Given the description of an element on the screen output the (x, y) to click on. 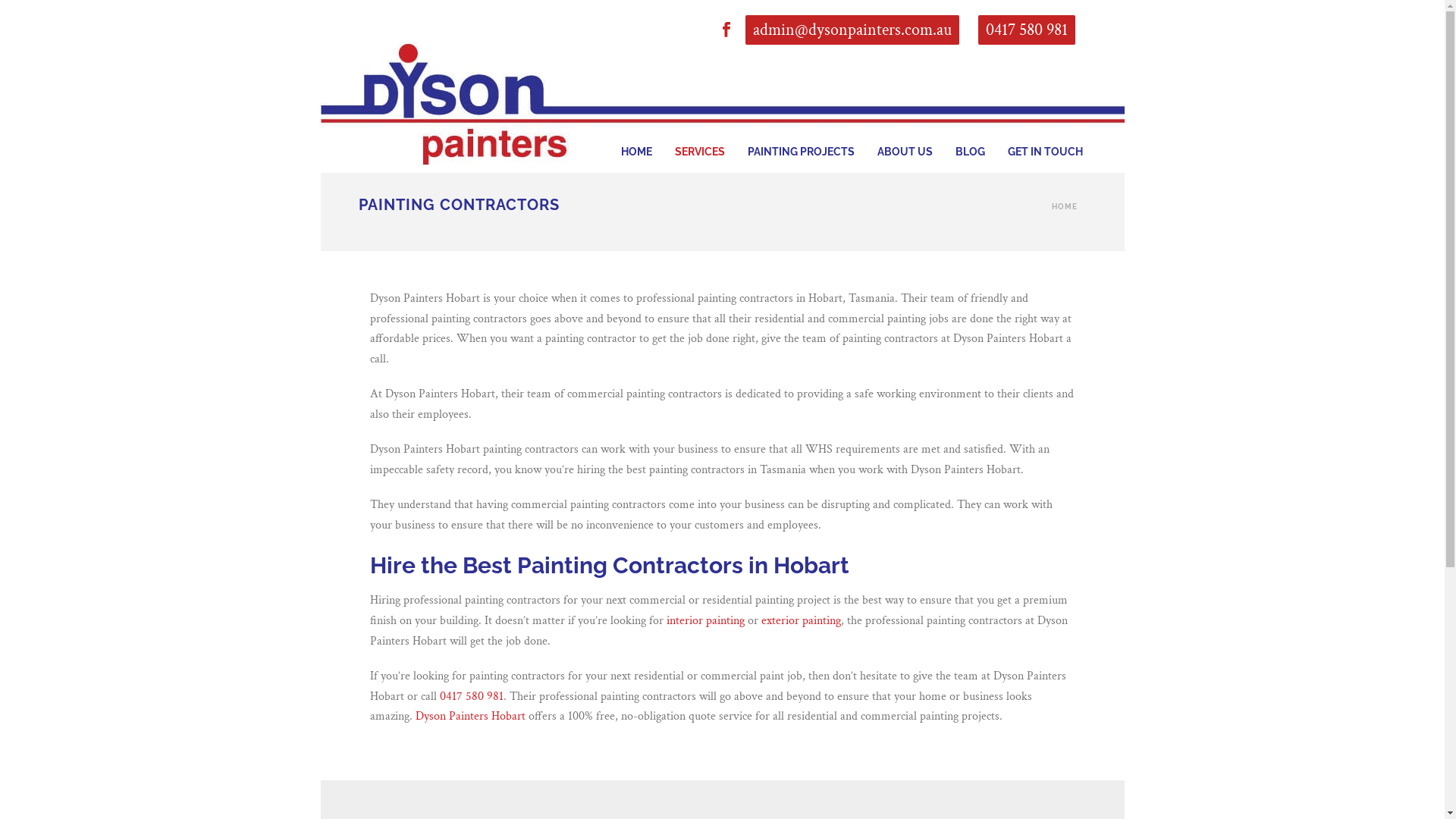
PAINTING PROJECTS Element type: text (800, 130)
SERVICES Element type: text (699, 130)
GET IN TOUCH Element type: text (1045, 130)
Quality House Painters in Hobart Element type: hover (357, 106)
HOME Element type: text (636, 130)
Dyson Painters Hobart Element type: text (470, 716)
BLOG Element type: text (969, 130)
ABOUT US Element type: text (904, 130)
Dyson Painters Hobart Element type: hover (448, 106)
0417 580 981 Element type: text (471, 696)
HOME Element type: text (1063, 206)
0417 580 981 Element type: text (1026, 29)
interior painting Element type: text (704, 620)
exterior painting Element type: text (800, 620)
admin@dysonpainters.com.au Element type: text (851, 29)
